Given the description of an element on the screen output the (x, y) to click on. 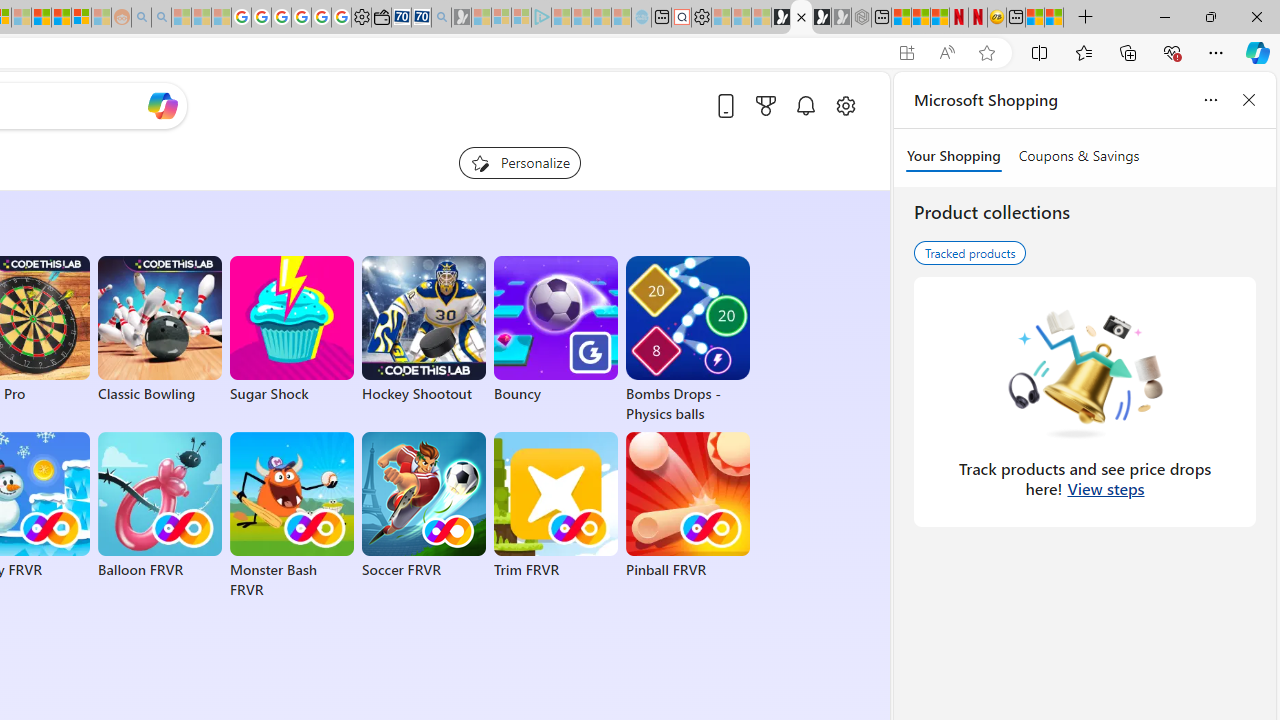
Kinda Frugal - MSN (61, 17)
Trim FRVR (556, 506)
Wallet (381, 17)
Hockey Shootout (424, 329)
Balloon FRVR (159, 506)
